Given the description of an element on the screen output the (x, y) to click on. 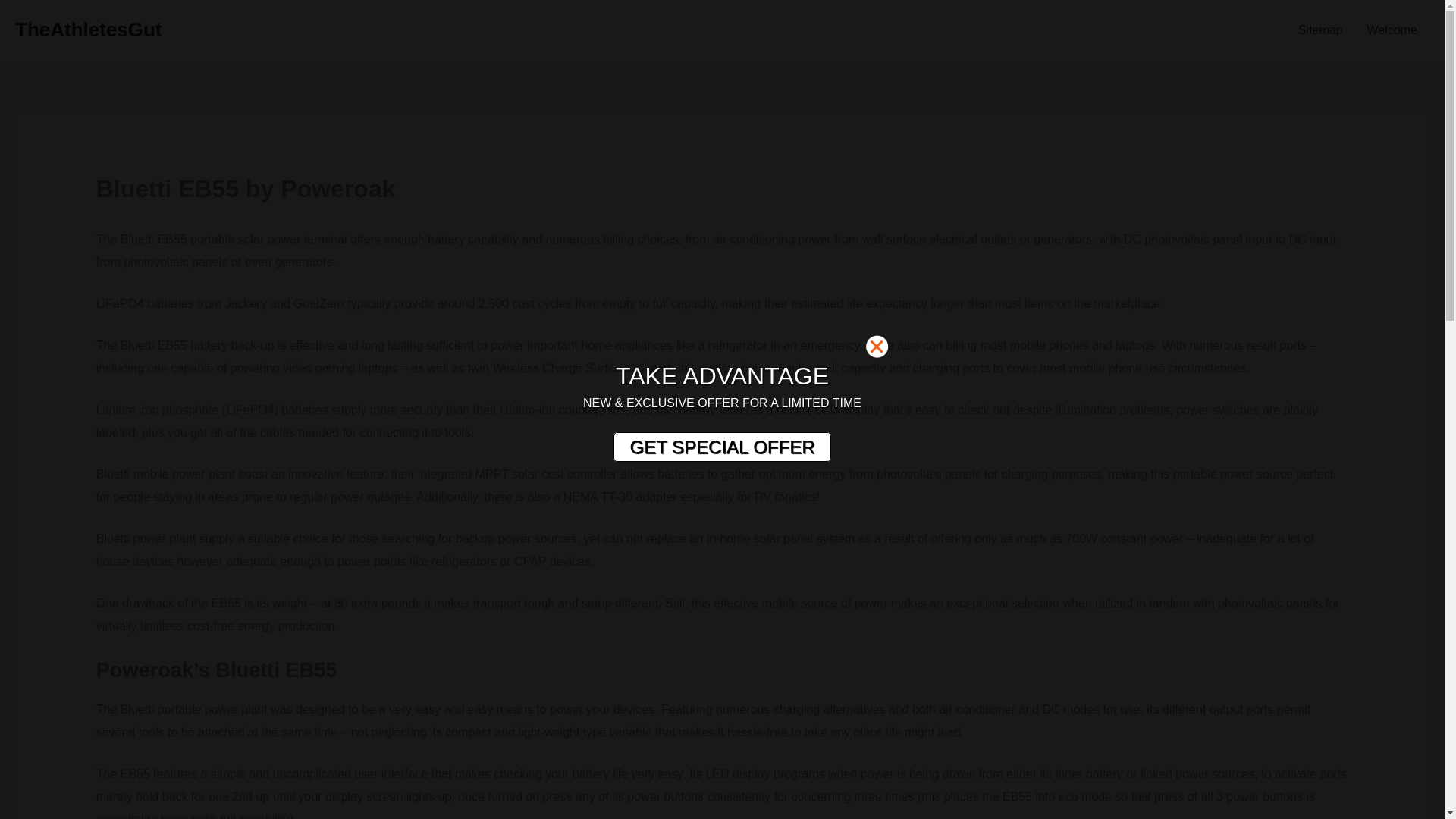
GET SPECIAL OFFER (720, 446)
Welcome (1392, 30)
TheAthletesGut (87, 29)
Sitemap (1320, 30)
